Given the description of an element on the screen output the (x, y) to click on. 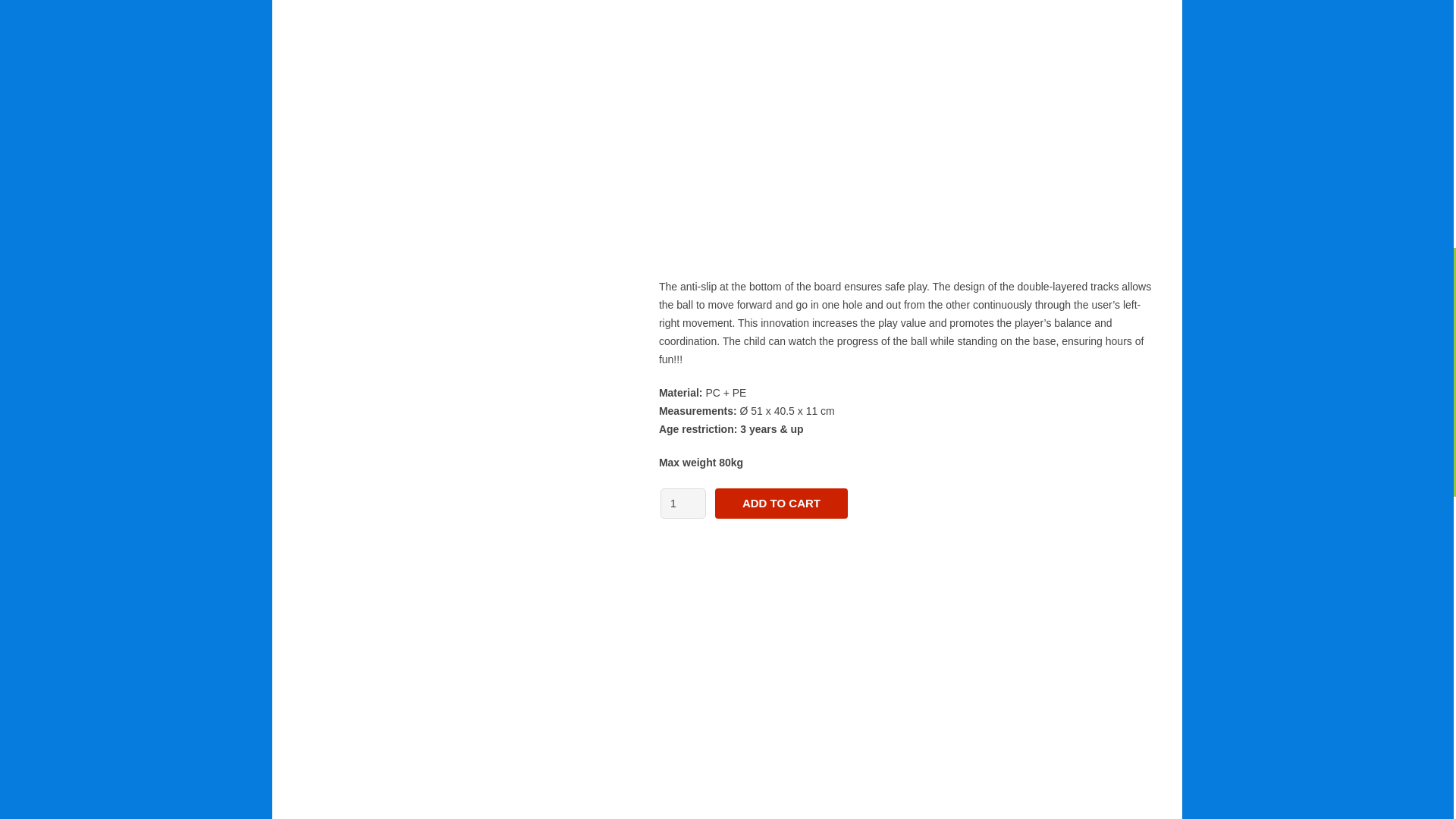
Weplay Putt Putt Balance Board (905, 128)
Back to top (1423, 20)
1 (683, 503)
